Given the description of an element on the screen output the (x, y) to click on. 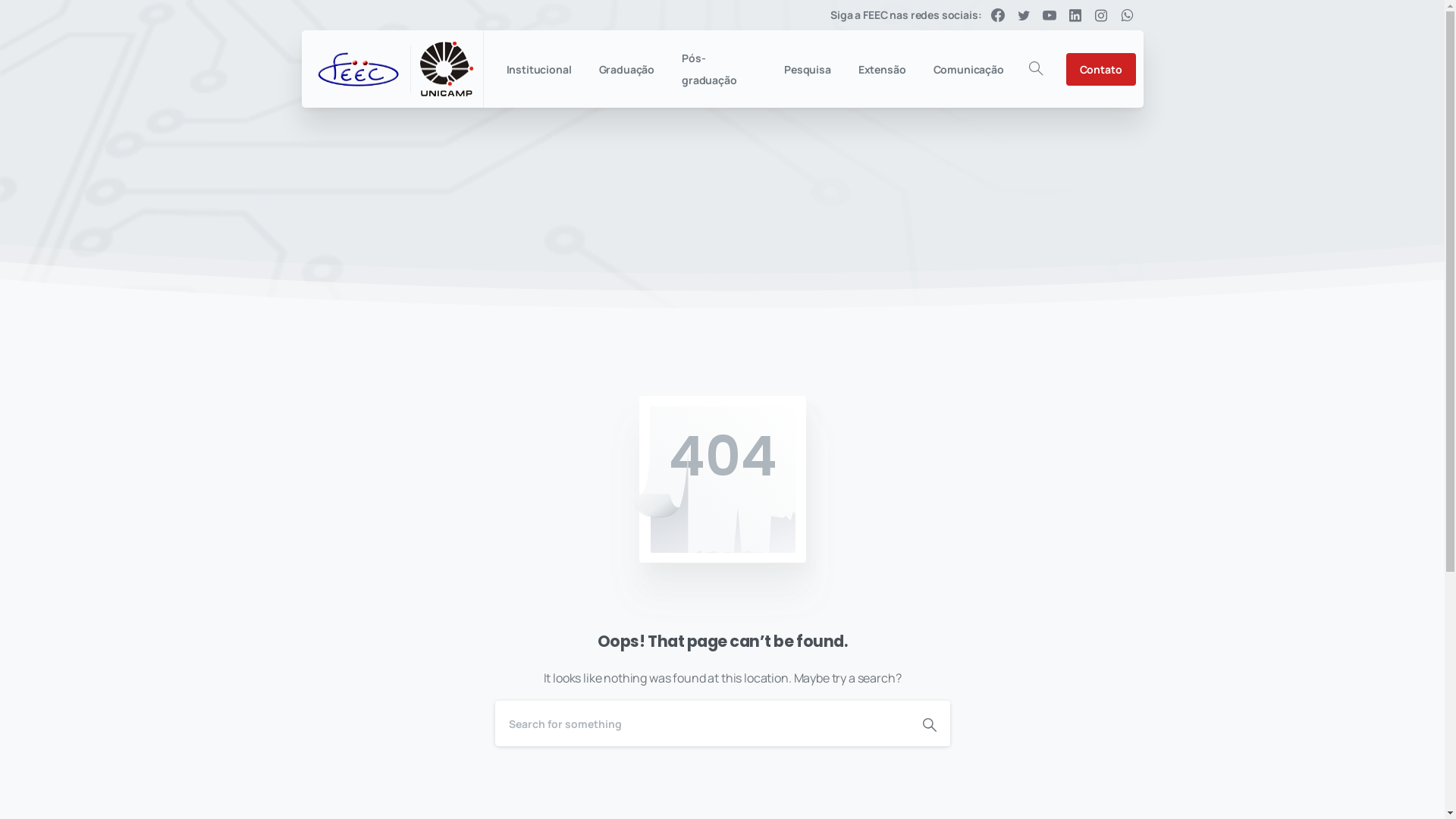
Institucional Element type: text (538, 69)
Shape Element type: text (928, 723)
instagram Element type: hover (1100, 14)
Materiais Element type: text (703, 685)
Facebook Element type: hover (997, 14)
Pesquisa Element type: text (807, 69)
Entre em Contato Element type: text (731, 622)
twitter Element type: hover (1023, 14)
WhatsApp Element type: hover (1126, 14)
Como chegar Element type: text (718, 779)
Contato Element type: text (1100, 69)
Todos os Departamentos Element type: text (528, 519)
youtube Element type: hover (1049, 14)
Alumni Element type: text (694, 748)
Institucional FEEC Element type: text (730, 716)
linkedin Element type: hover (1075, 14)
